Given the description of an element on the screen output the (x, y) to click on. 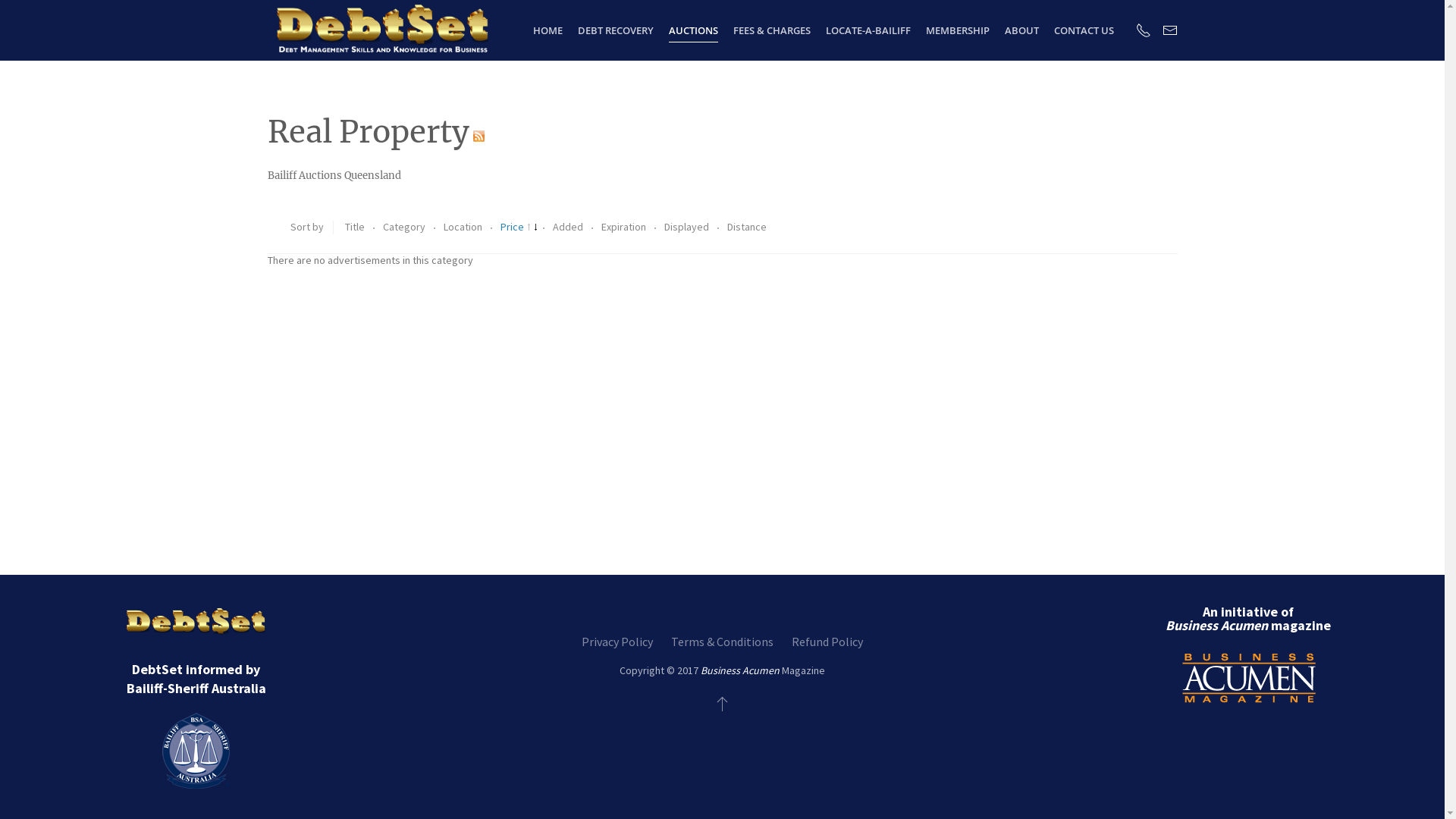
CONTACT US Element type: text (1083, 30)
HOME Element type: text (547, 30)
Refund Policy Element type: text (826, 641)
LOCATE-A-BAILIFF Element type: text (868, 30)
Expiration Element type: text (623, 226)
AUCTIONS Element type: text (693, 30)
FEES & CHARGES Element type: text (771, 30)
Price Element type: text (518, 226)
Privacy Policy Element type: text (616, 641)
DEBT RECOVERY Element type: text (615, 30)
Added Element type: text (568, 226)
Bailiff Auctions Queensland Element type: text (333, 175)
Distance Element type: text (745, 226)
MEMBERSHIP Element type: text (957, 30)
Displayed Element type: text (687, 226)
Terms & Conditions Element type: text (722, 641)
Location Element type: text (462, 226)
Category Element type: text (404, 226)
Title Element type: text (355, 226)
ABOUT Element type: text (1021, 30)
